Given the description of an element on the screen output the (x, y) to click on. 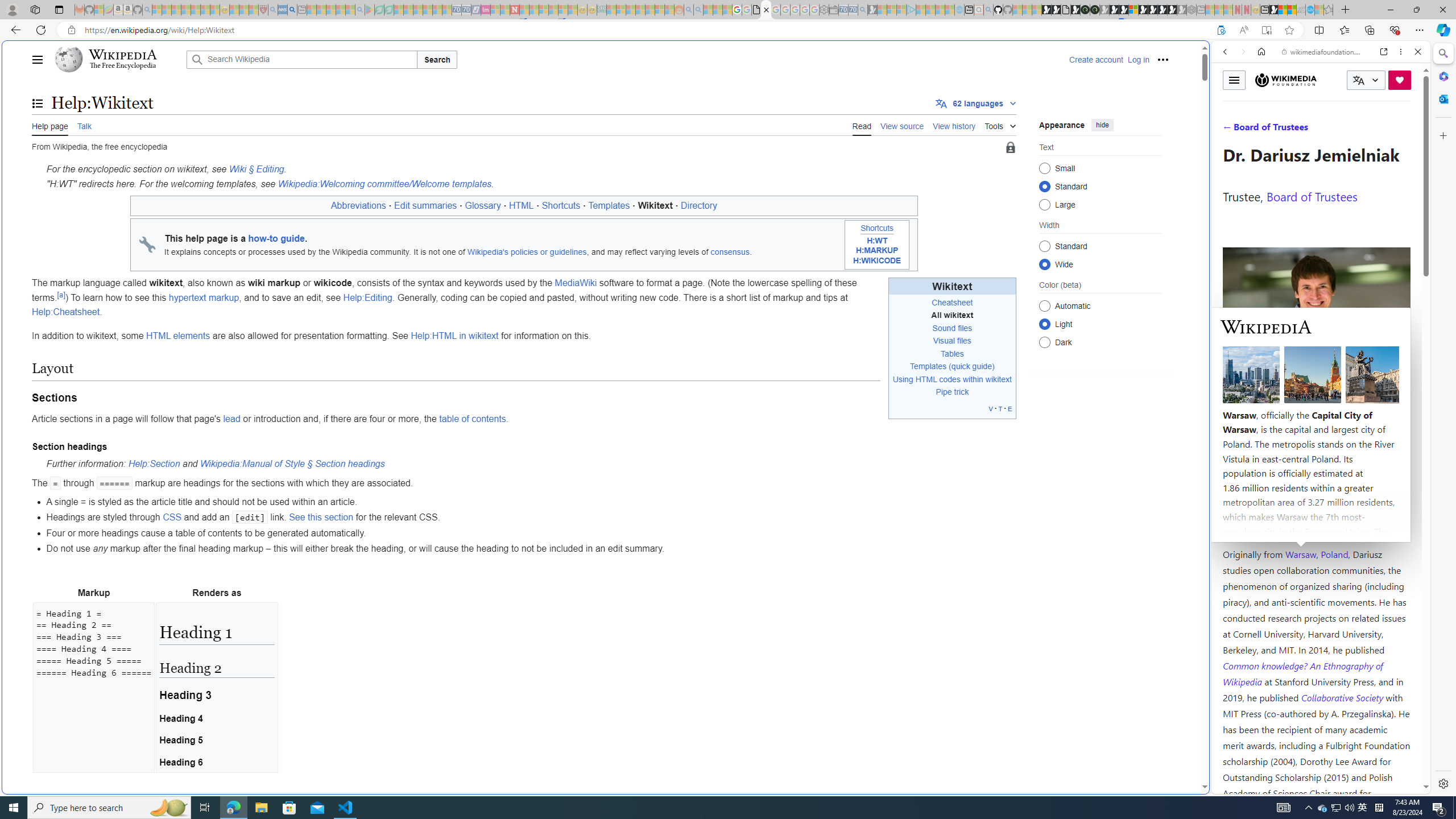
NCL Adult Asthma Inhaler Choice Guideline - Sleeping (282, 9)
Edit summaries (425, 205)
google_privacy_policy_zh-CN.pdf (1118, 683)
Abbreviations (357, 205)
HTML (521, 205)
Kinda Frugal - MSN - Sleeping (649, 9)
Home (1261, 51)
Glossary (482, 205)
Create account (1095, 58)
v (990, 408)
